Given the description of an element on the screen output the (x, y) to click on. 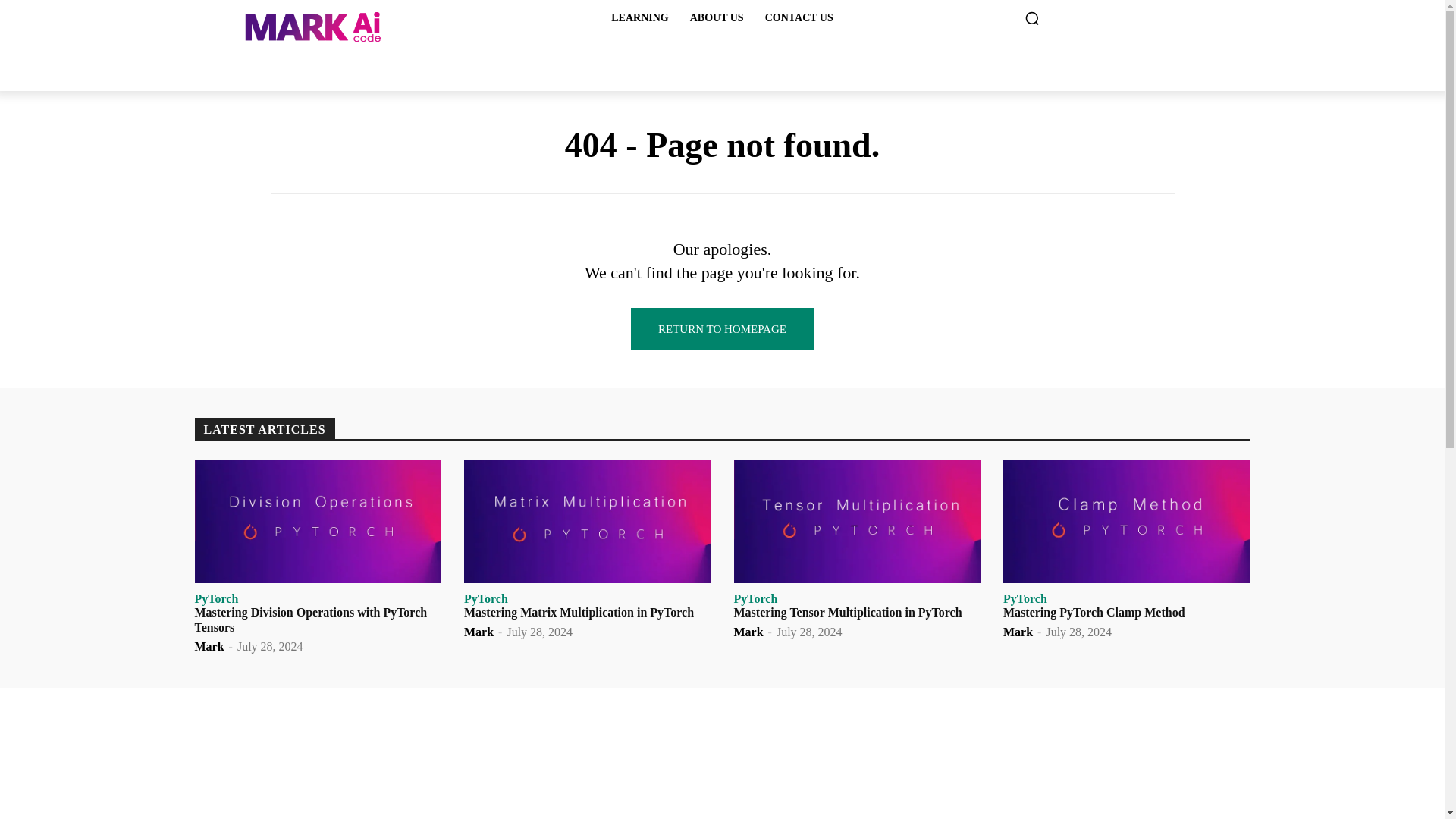
Mastering Tensor Multiplication in PyTorch (847, 612)
Mastering Division Operations with PyTorch Tensors (317, 521)
Mastering Division Operations with PyTorch Tensors (309, 619)
Mastering PyTorch Clamp Method (1126, 521)
Mastering Matrix Multiplication in PyTorch (587, 521)
Mastering Tensor Multiplication in PyTorch (857, 521)
LEARNING (638, 18)
RETURN TO HOMEPAGE (721, 328)
Mastering Matrix Multiplication in PyTorch (579, 612)
